Given the description of an element on the screen output the (x, y) to click on. 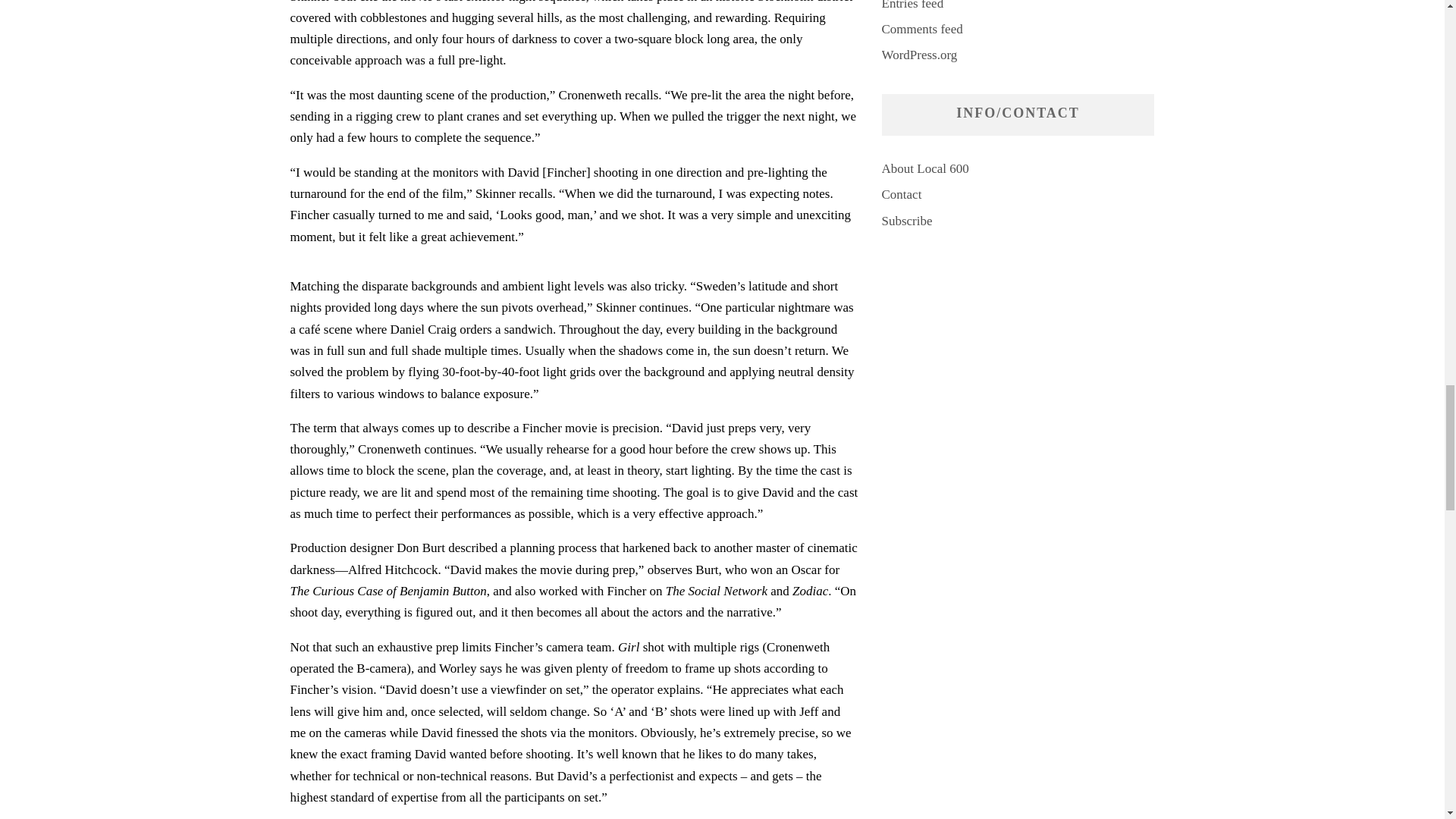
Entries feed (911, 5)
Comments feed (921, 29)
Subscribe (905, 220)
WordPress.org (918, 54)
About Local 600 (924, 168)
Contact (900, 194)
